Given the description of an element on the screen output the (x, y) to click on. 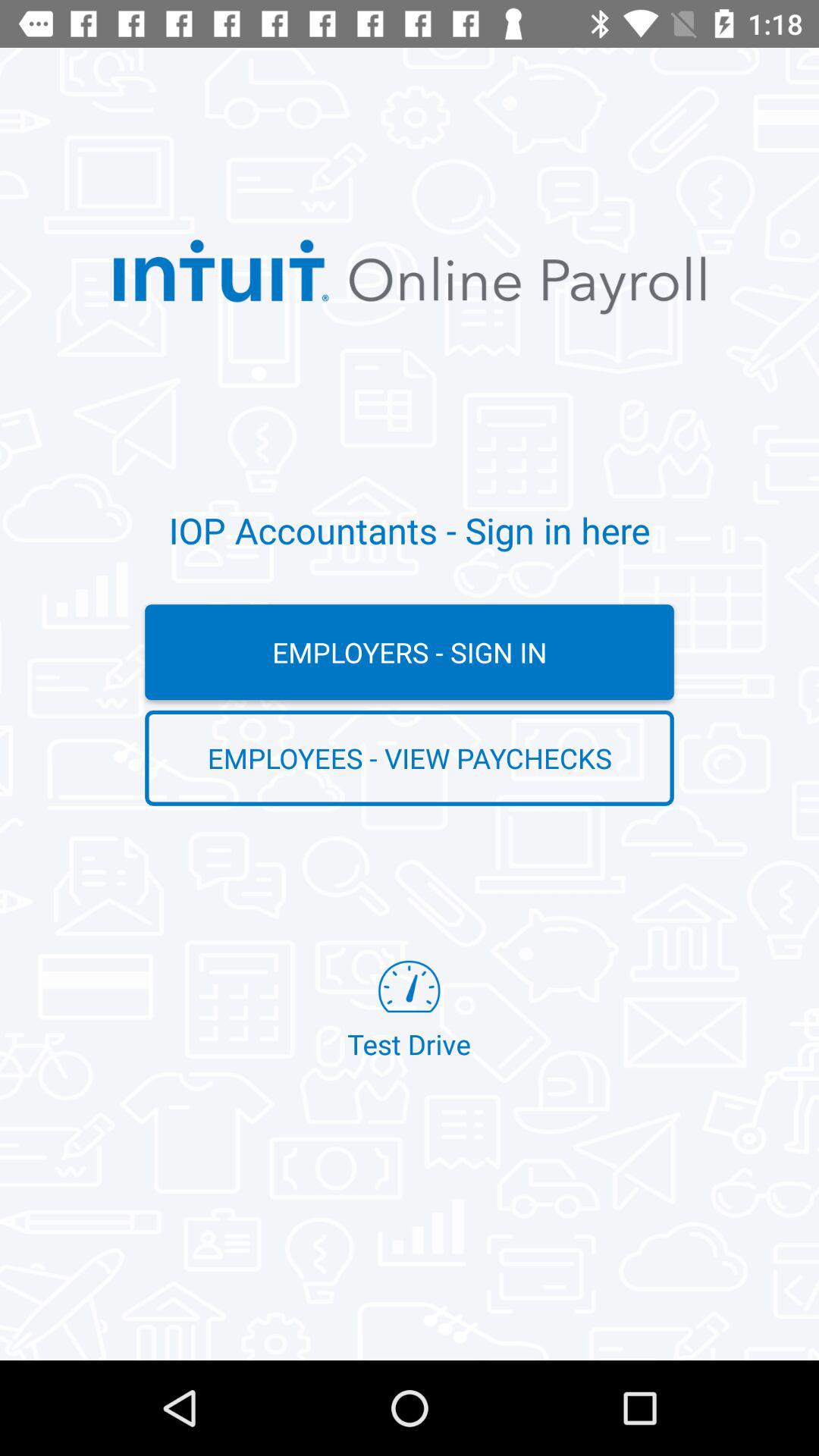
click the icon above the test drive (409, 757)
